Given the description of an element on the screen output the (x, y) to click on. 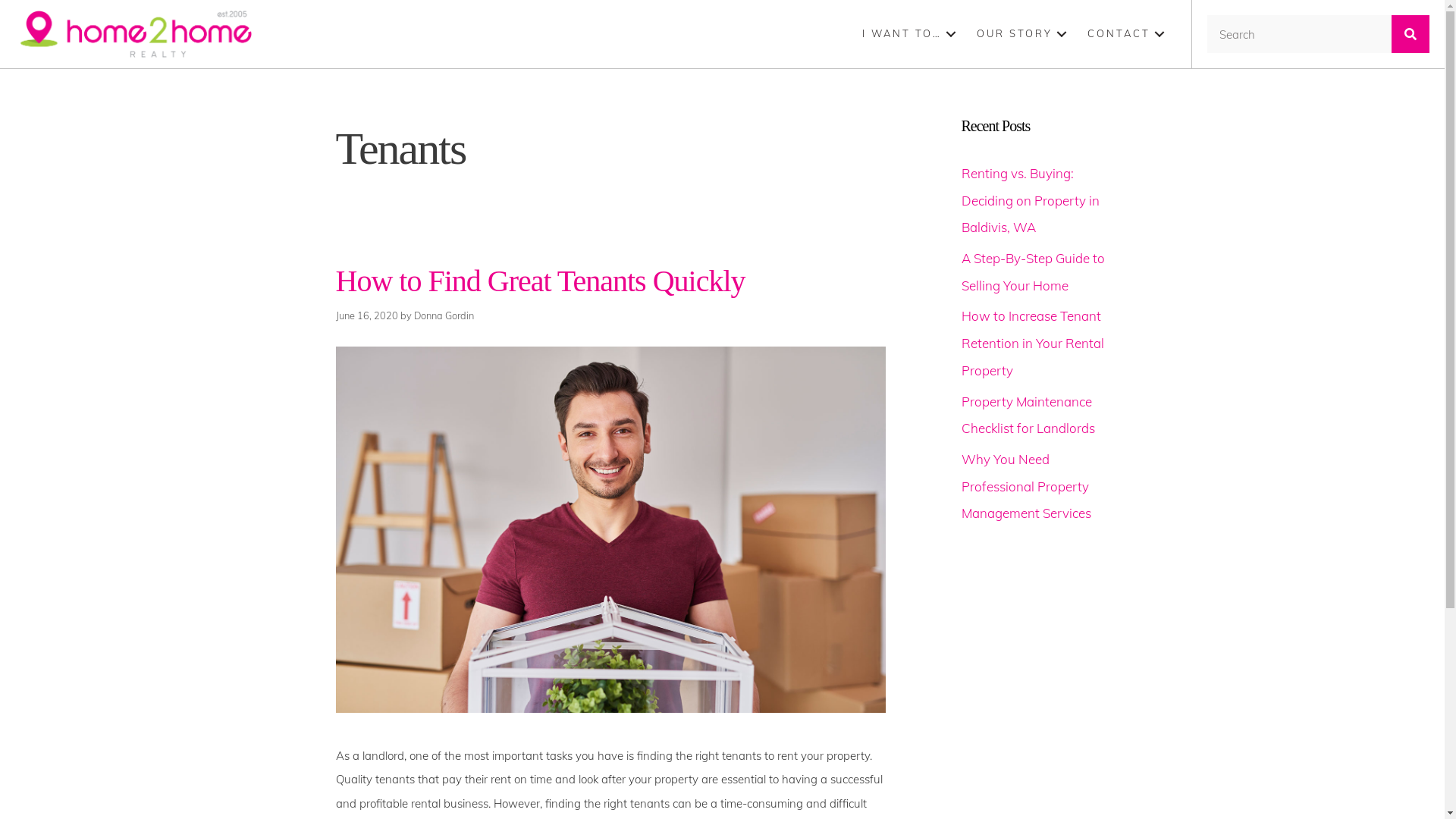
Property Maintenance Checklist for Landlords Element type: text (1028, 414)
Why You Need Professional Property Management Services Element type: text (1026, 485)
OUR STORY Element type: text (1023, 33)
home2home_LOGO 2019-02 Element type: hover (135, 33)
CONTACT Element type: text (1127, 33)
How to Find Great Tenants Quickly Element type: text (539, 280)
Renting vs. Buying: Deciding on Property in Baldivis, WA Element type: text (1030, 200)
Search Element type: hover (1299, 34)
Donna Gordin Element type: text (443, 315)
How to Increase Tenant Retention in Your Rental Property Element type: text (1032, 342)
A Step-By-Step Guide to Selling Your Home Element type: text (1032, 271)
